Given the description of an element on the screen output the (x, y) to click on. 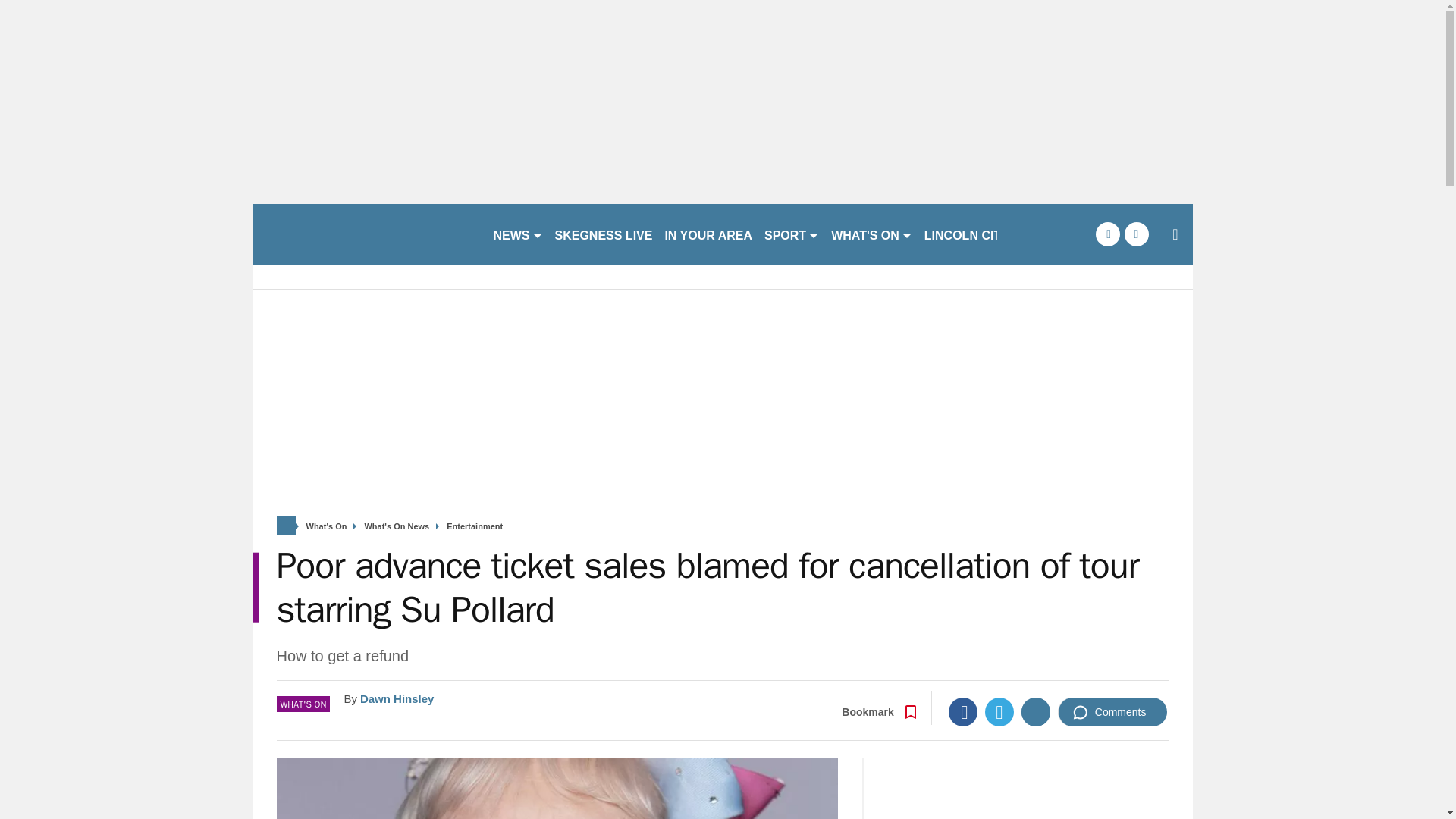
facebook (1106, 233)
NEWS (517, 233)
IN YOUR AREA (708, 233)
Facebook (962, 711)
WHAT'S ON (871, 233)
SPORT (791, 233)
SKEGNESS LIVE (603, 233)
Comments (1112, 711)
Twitter (999, 711)
lincolnshirelive (365, 233)
